Given the description of an element on the screen output the (x, y) to click on. 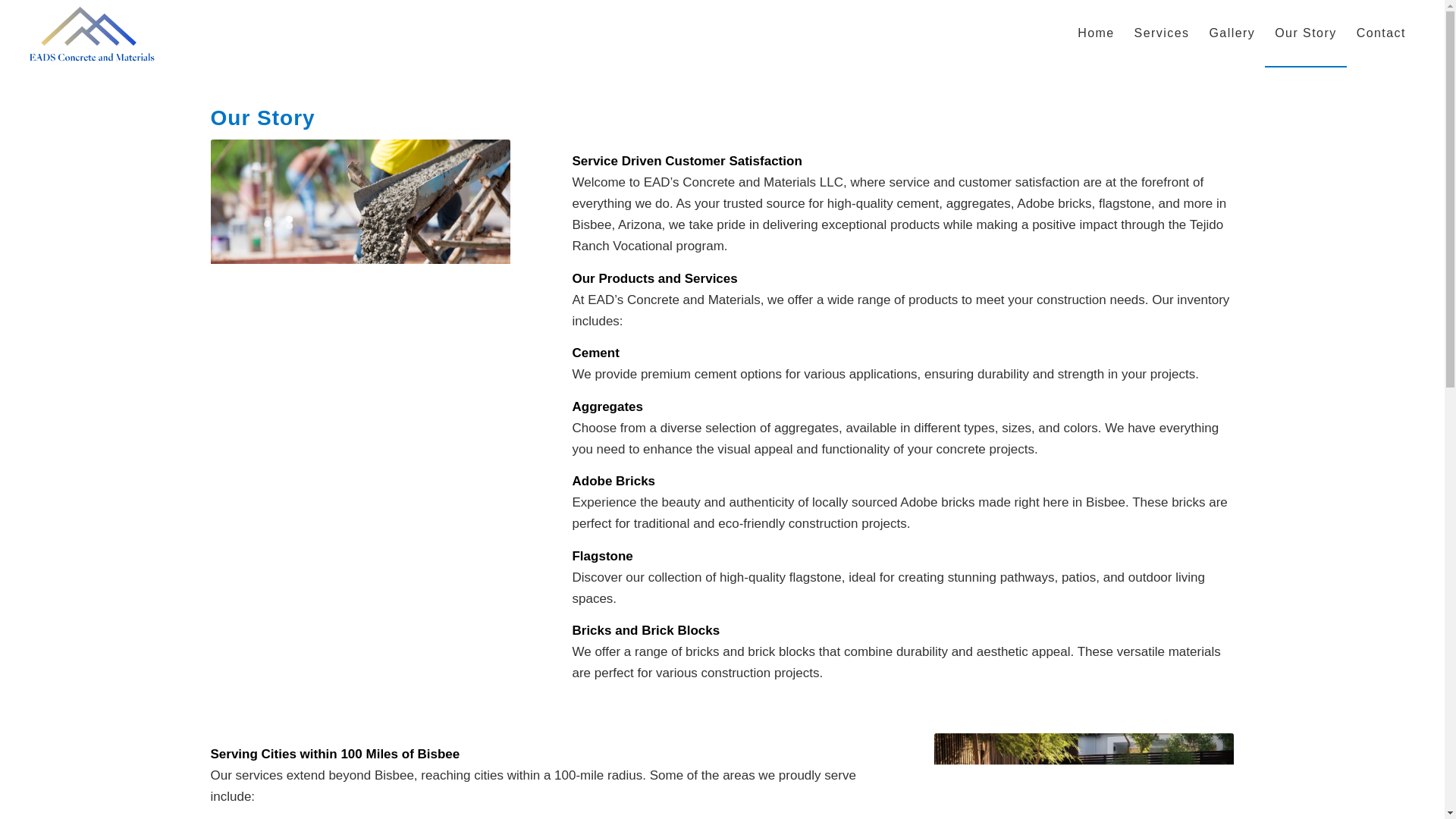
Services (1161, 33)
Gallery (1231, 33)
Contact (1380, 33)
Our Story (1305, 33)
